Given the description of an element on the screen output the (x, y) to click on. 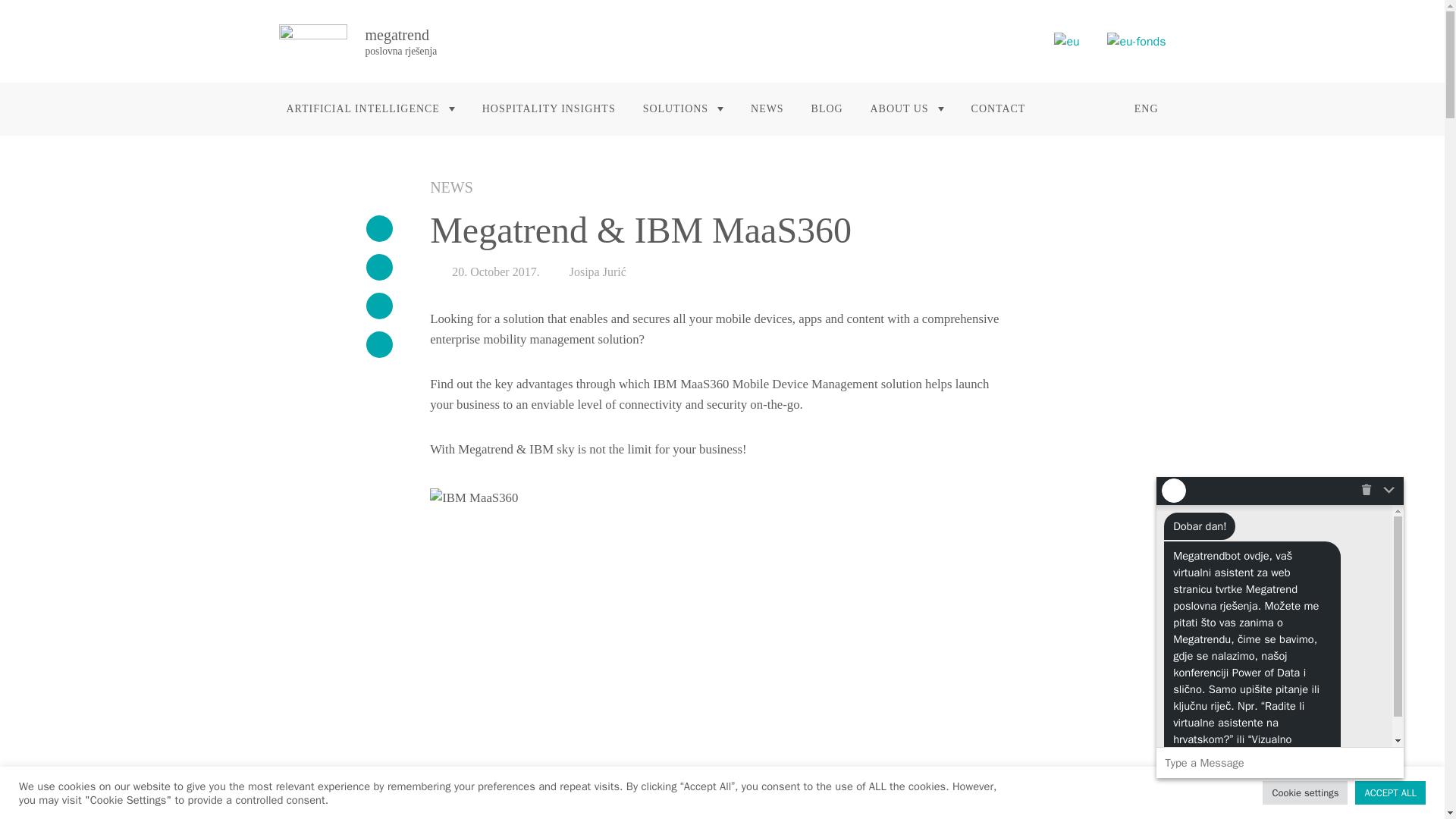
ABOUT US (907, 108)
SOLUTIONS (682, 108)
HOSPITALITY INSIGHTS (548, 108)
ARTIFICIAL INTELLIGENCE (371, 108)
CONTACT (998, 108)
Share on Twitter (378, 266)
Share on Facebook (378, 228)
NEWS (767, 108)
Share on Linkedin (378, 305)
Share by Email (378, 344)
